Given the description of an element on the screen output the (x, y) to click on. 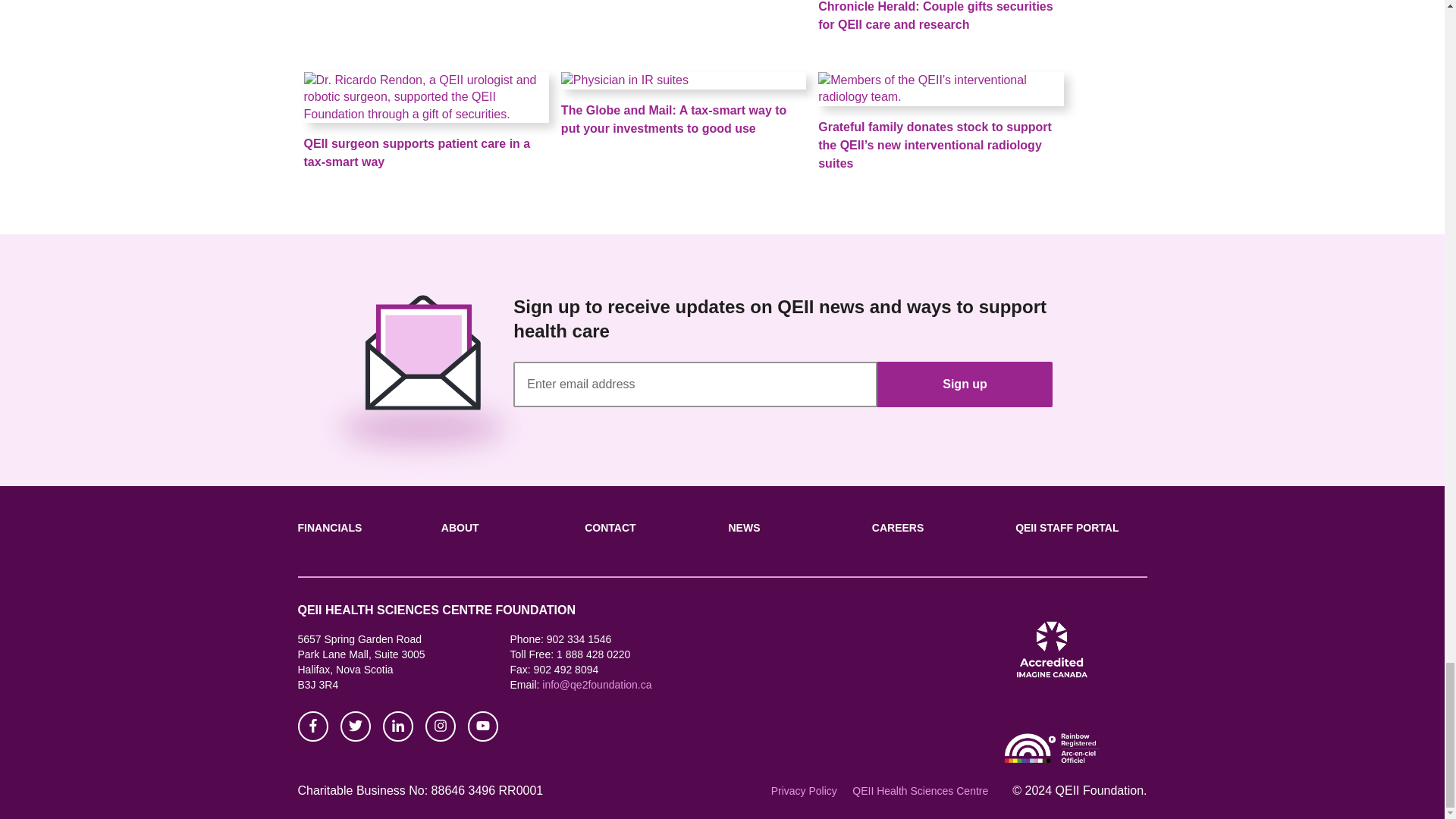
Linkedin (397, 723)
Instagram (439, 723)
Facebook (312, 723)
Youtube (482, 723)
Twitter (354, 723)
